Given the description of an element on the screen output the (x, y) to click on. 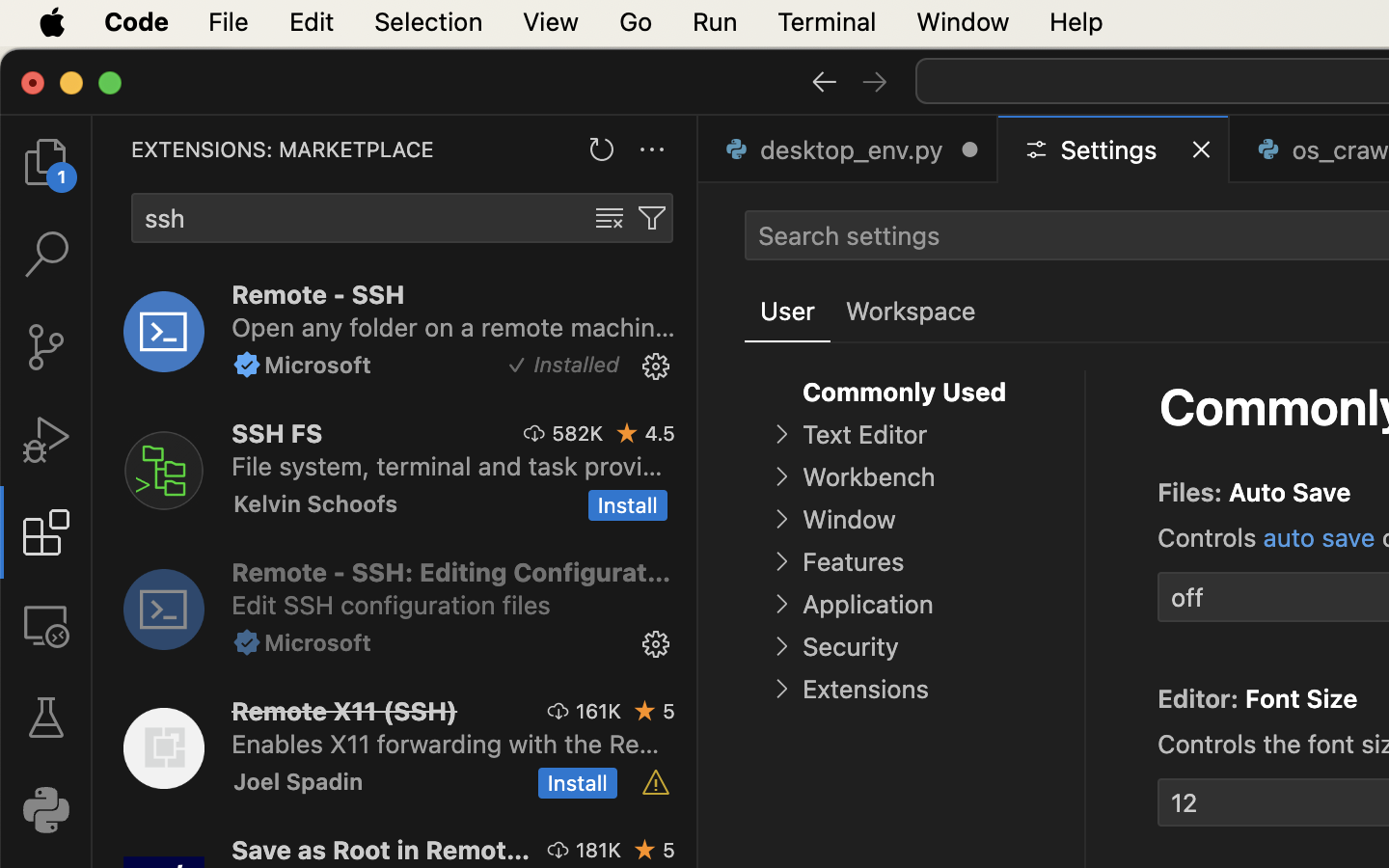
Save as Root in Remote - SSH Element type: AXStaticText (380, 849)
Workbench Element type: AXStaticText (868, 476)
1  Element type: AXRadioButton (46, 532)
Text Editor Element type: AXStaticText (864, 434)
 Element type: AXButton (824, 80)
